Given the description of an element on the screen output the (x, y) to click on. 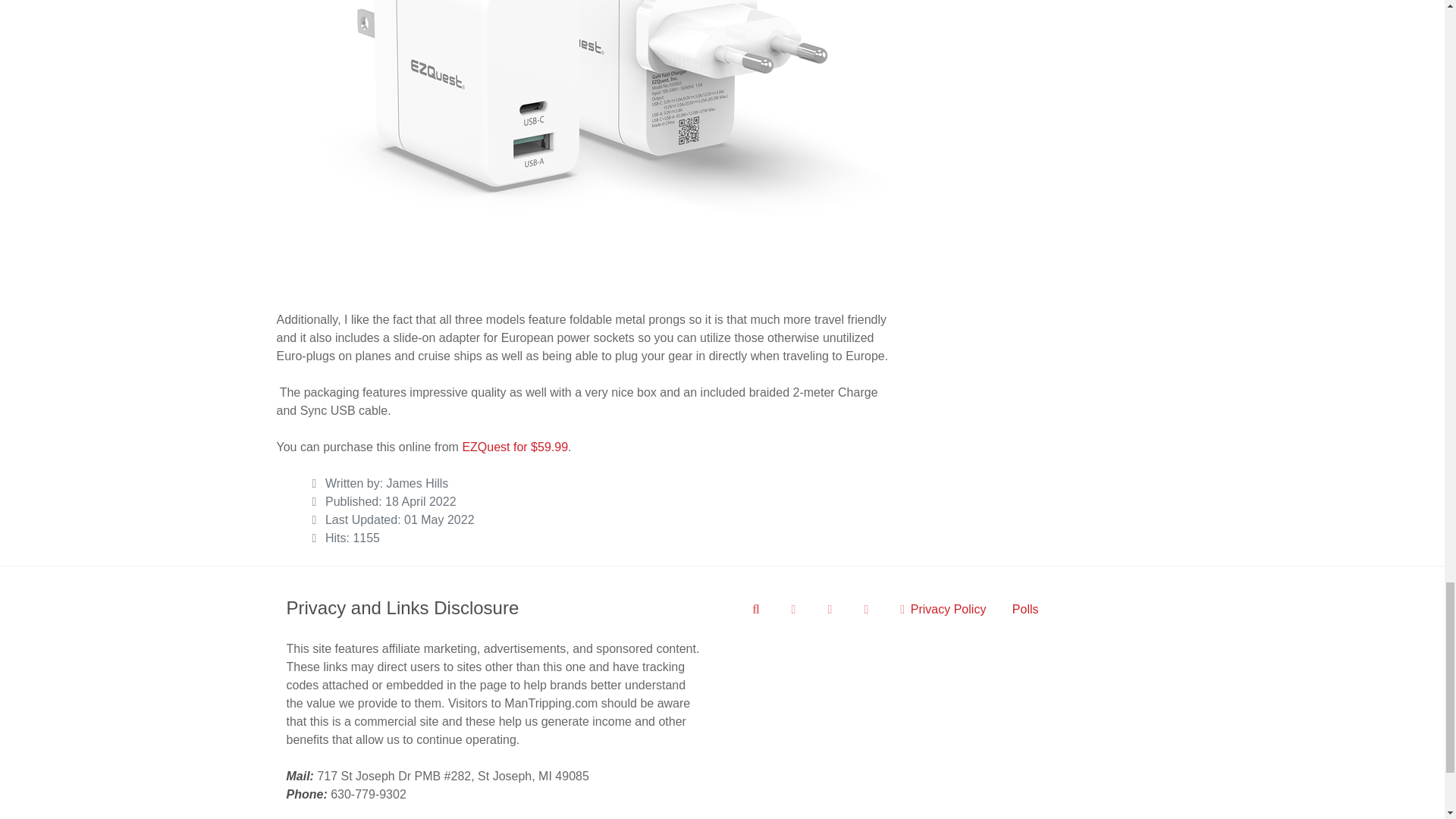
Polls (1025, 608)
Privacy Policy (942, 608)
Privacy Policy (942, 608)
Polls (1025, 608)
